Given the description of an element on the screen output the (x, y) to click on. 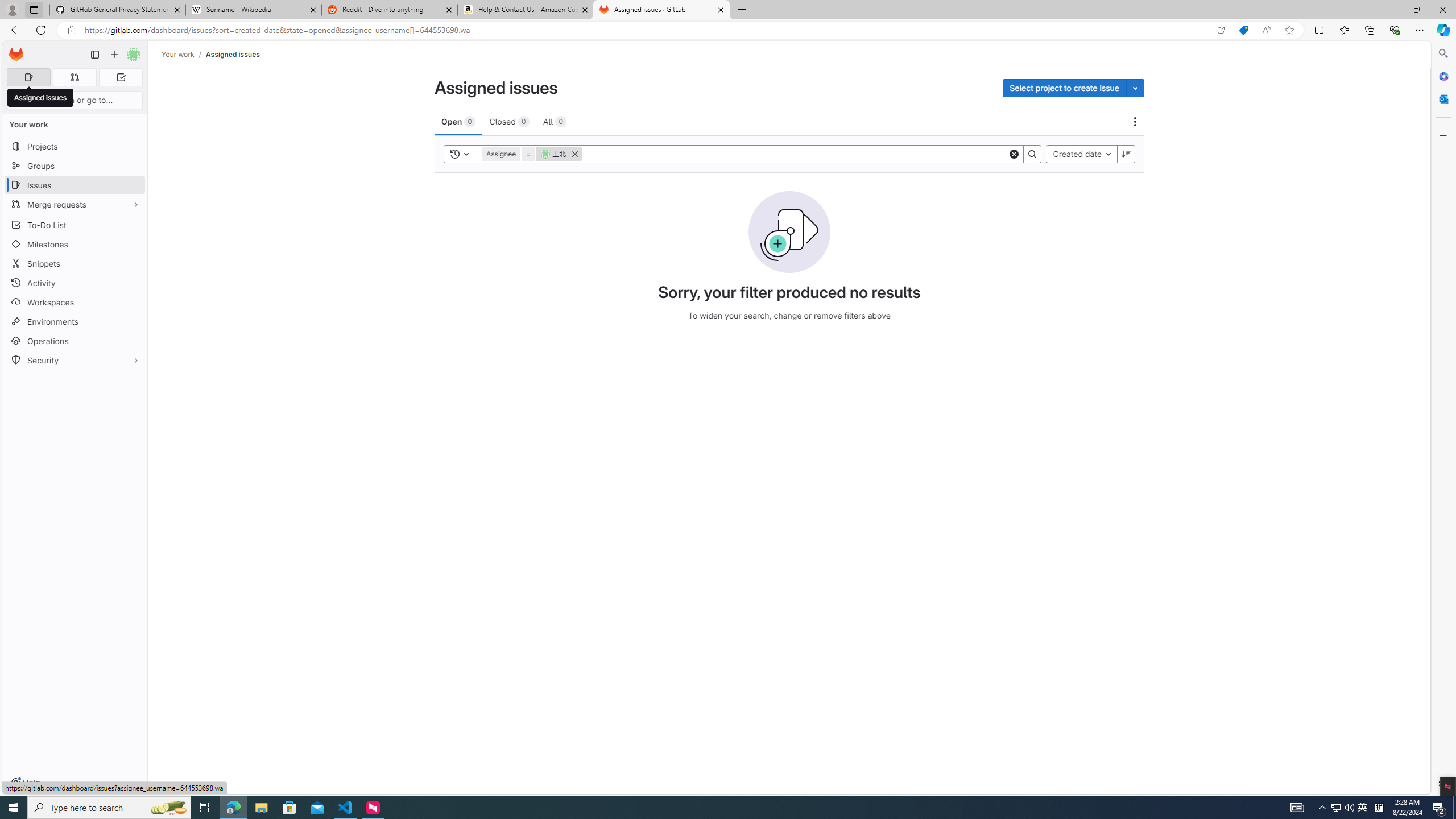
Clear (1014, 153)
Assigned issues 0 (28, 76)
Issues (74, 185)
Open in app (1220, 29)
Environments (74, 321)
All 0 (554, 121)
GitHub General Privacy Statement - GitHub Docs (117, 9)
Environments (74, 321)
Your work (178, 53)
Close Outlook pane (1442, 98)
